Given the description of an element on the screen output the (x, y) to click on. 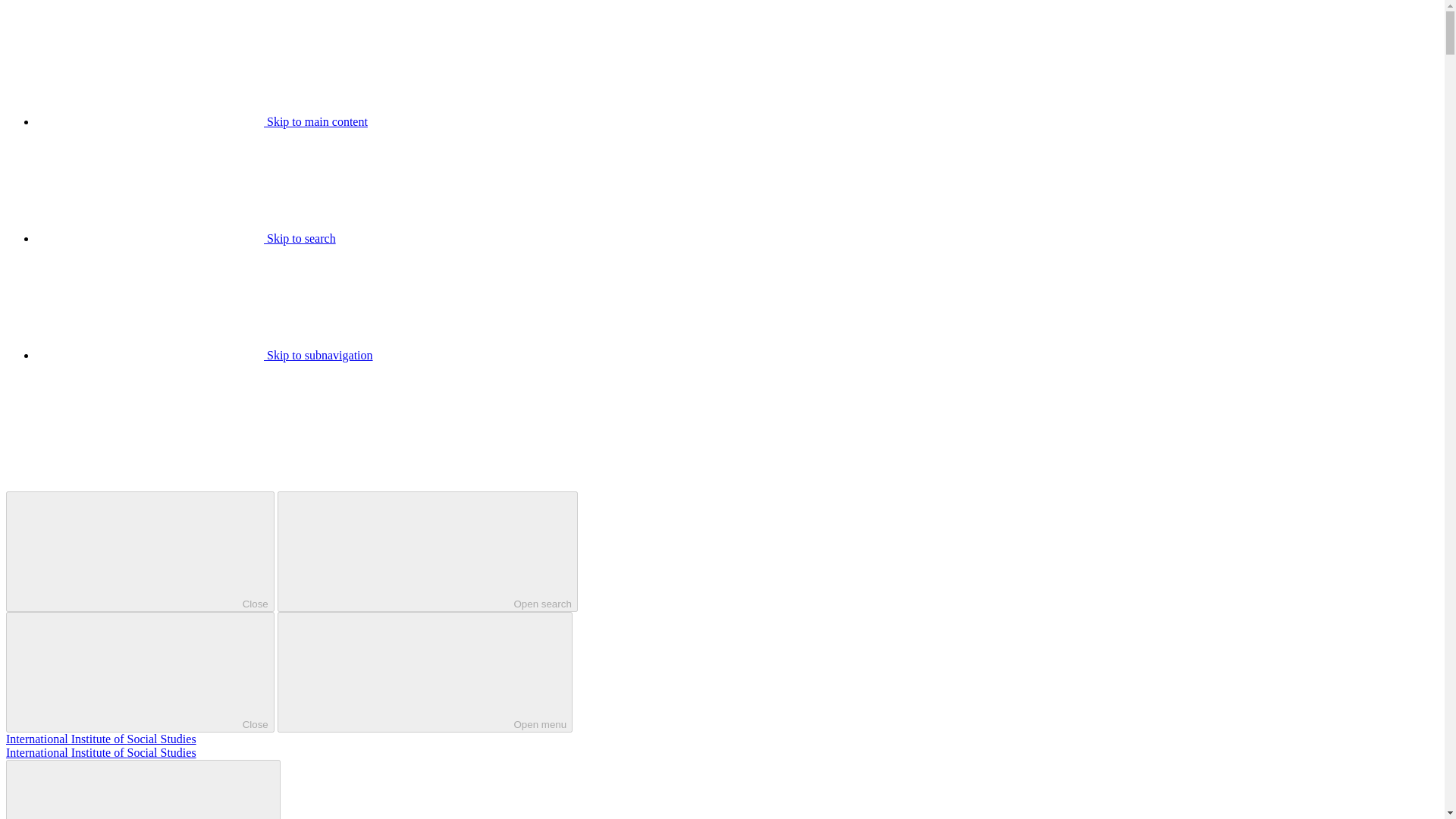
Close (140, 551)
Open search (428, 551)
Close (140, 671)
International Institute of Social Studies (100, 738)
International Institute of Social Studies (100, 752)
Skip to subnavigation (204, 354)
Skip to search (186, 237)
Search (143, 789)
Skip to main content (202, 121)
Open menu (425, 671)
